Given the description of an element on the screen output the (x, y) to click on. 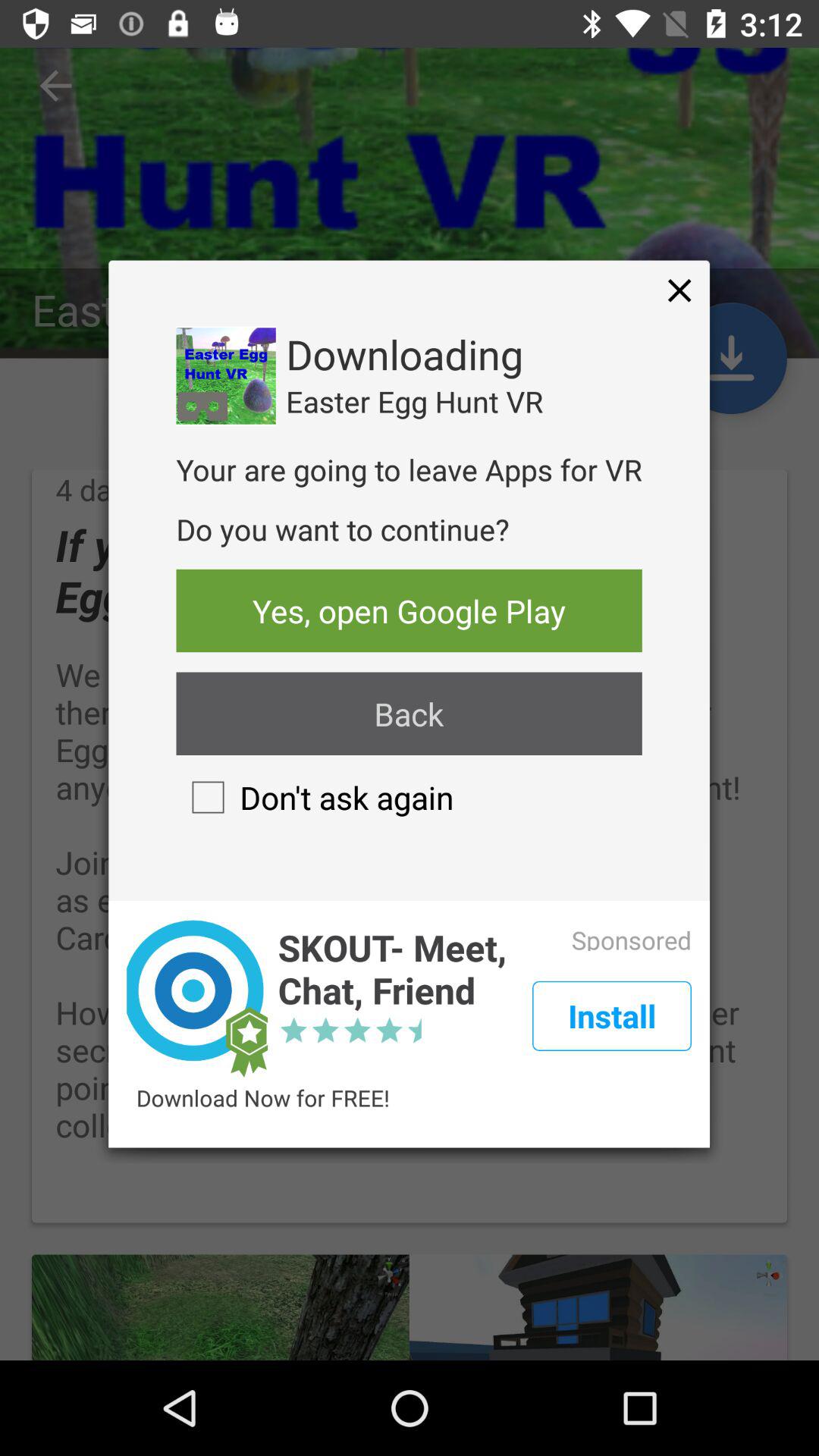
jump until the yes open google (409, 610)
